Given the description of an element on the screen output the (x, y) to click on. 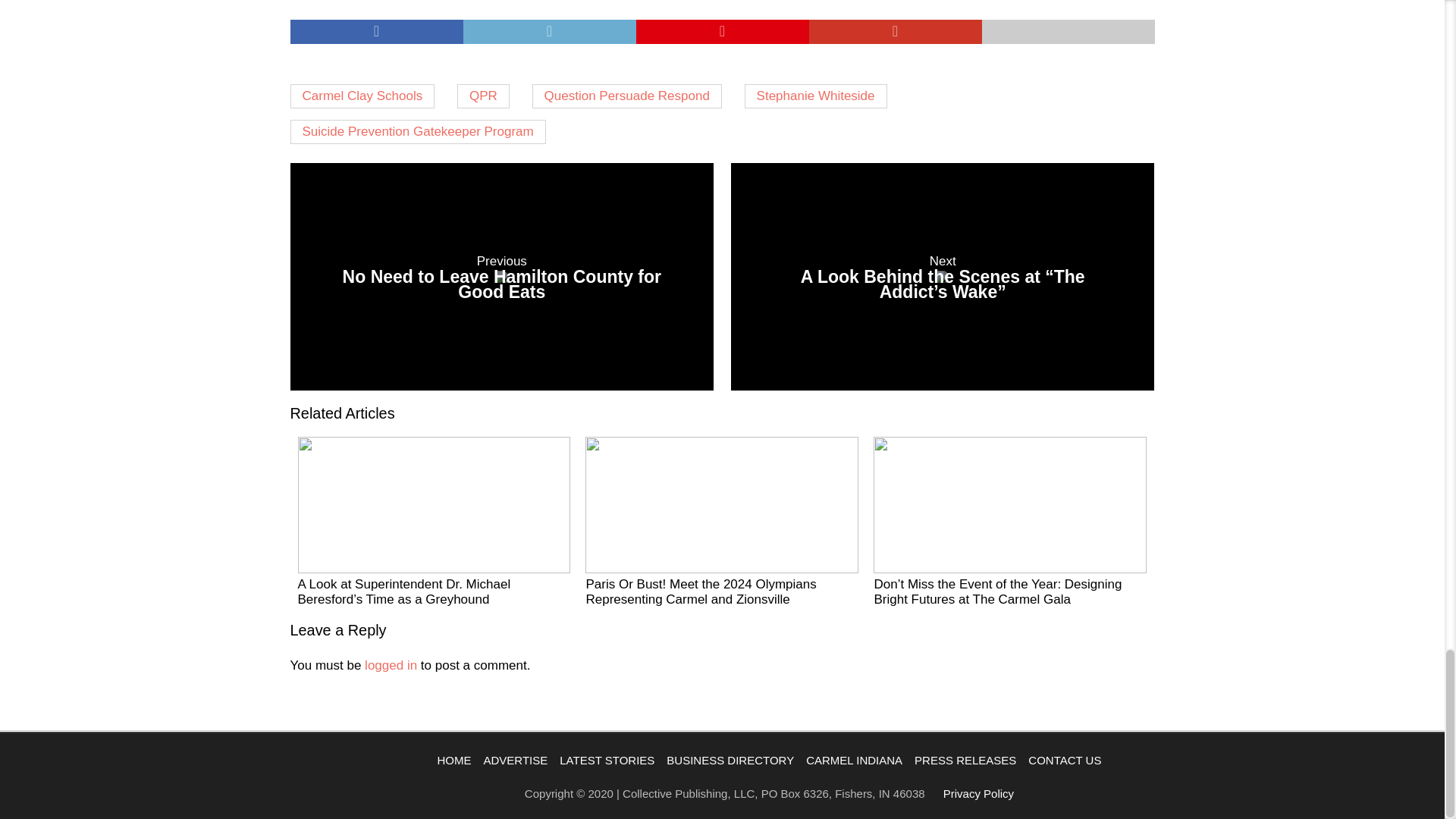
Stephanie Whiteside (815, 96)
QPR (483, 96)
Pin This Post (721, 31)
Carmel Clay Schools (361, 96)
Send this article to a friend (501, 276)
Suicide Prevention Gatekeeper Program (1067, 31)
Tweet This Post (416, 131)
Share on Facebook (548, 31)
